Given the description of an element on the screen output the (x, y) to click on. 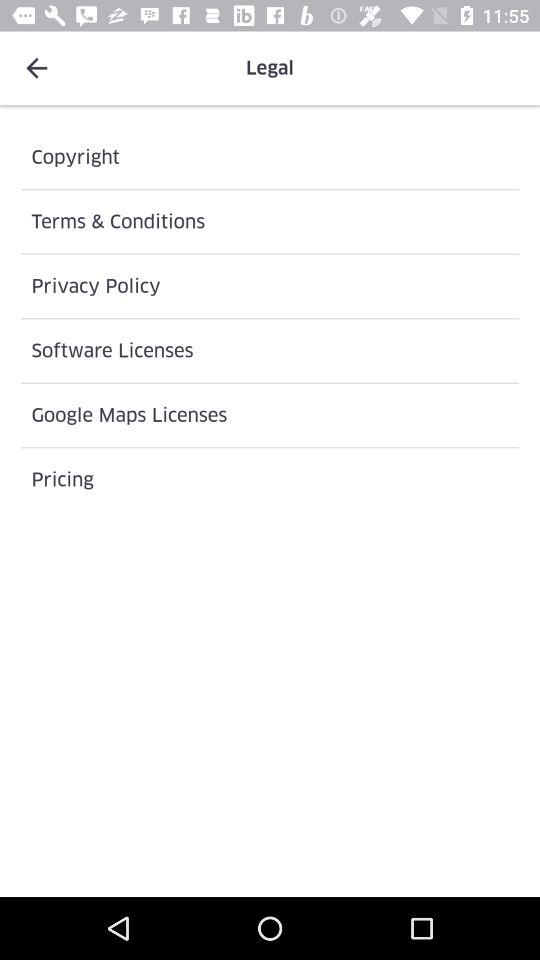
flip to the terms & conditions item (270, 221)
